Given the description of an element on the screen output the (x, y) to click on. 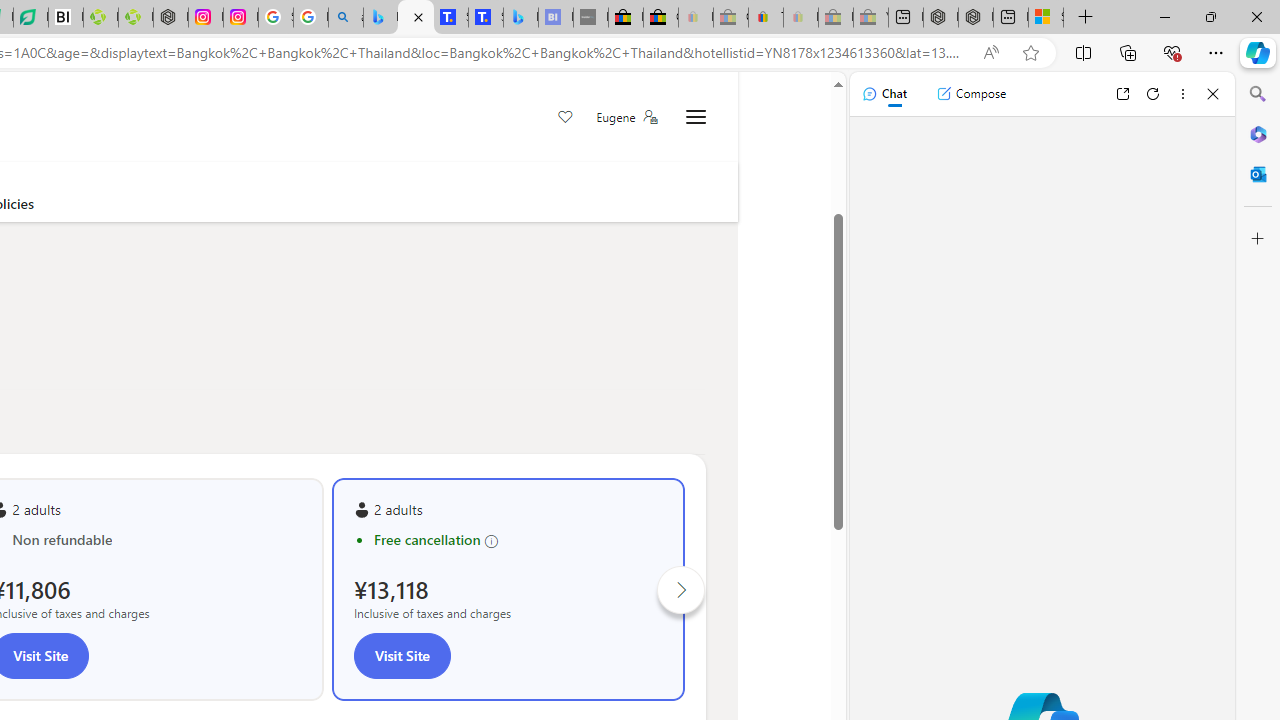
Nordace - Nordace Edin Collection (170, 17)
Save (565, 118)
Shangri-La Bangkok, Hotel reviews and Room rates (485, 17)
Microsoft Bing Travel - Flights from Hong Kong to Bangkok (380, 17)
Safety in Our Products - Google Safety Center (275, 17)
Microsoft Bing Travel - Shangri-La Hotel Bangkok (520, 17)
Non refundable (156, 539)
Save (565, 118)
Nvidia va a poner a prueba la paciencia de los inversores (65, 17)
Descarga Driver Updater (136, 17)
